Given the description of an element on the screen output the (x, y) to click on. 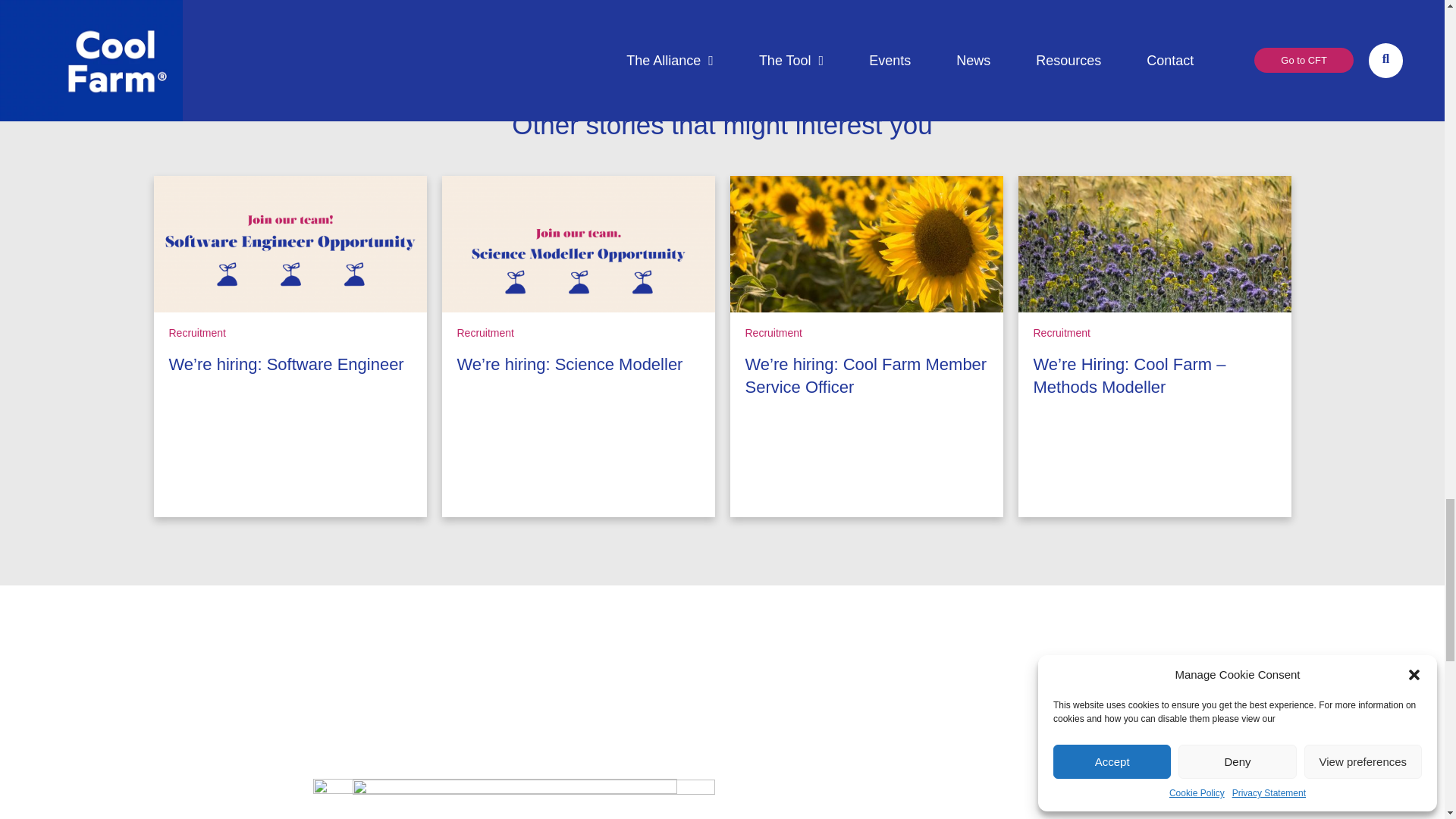
header-Resources (866, 244)
phacelia-5243705 (1153, 244)
